Given the description of an element on the screen output the (x, y) to click on. 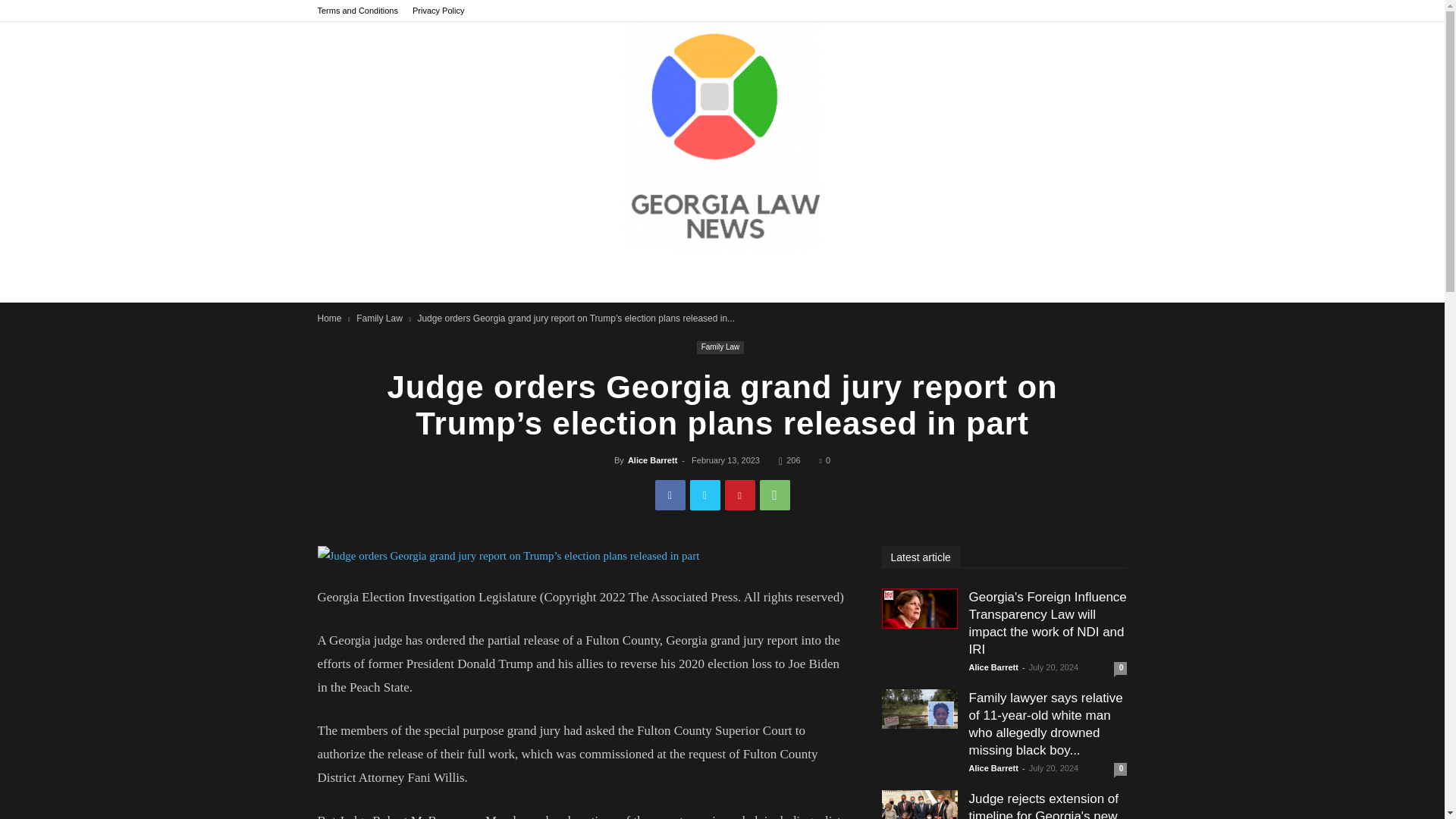
WhatsApp (775, 494)
Pinterest (740, 494)
Facebook (670, 494)
Family Law (720, 347)
View all posts in Family Law (379, 317)
Terms and Conditions (357, 10)
IMMIGRATION LAW (807, 275)
WORKERS COMPENSATION LAW (963, 275)
Privacy Policy (438, 10)
Family Law (379, 317)
Search (1083, 345)
0 (824, 460)
INDIGENT DEFENSE (685, 275)
HOME (411, 275)
Alice Barrett (652, 460)
